Given the description of an element on the screen output the (x, y) to click on. 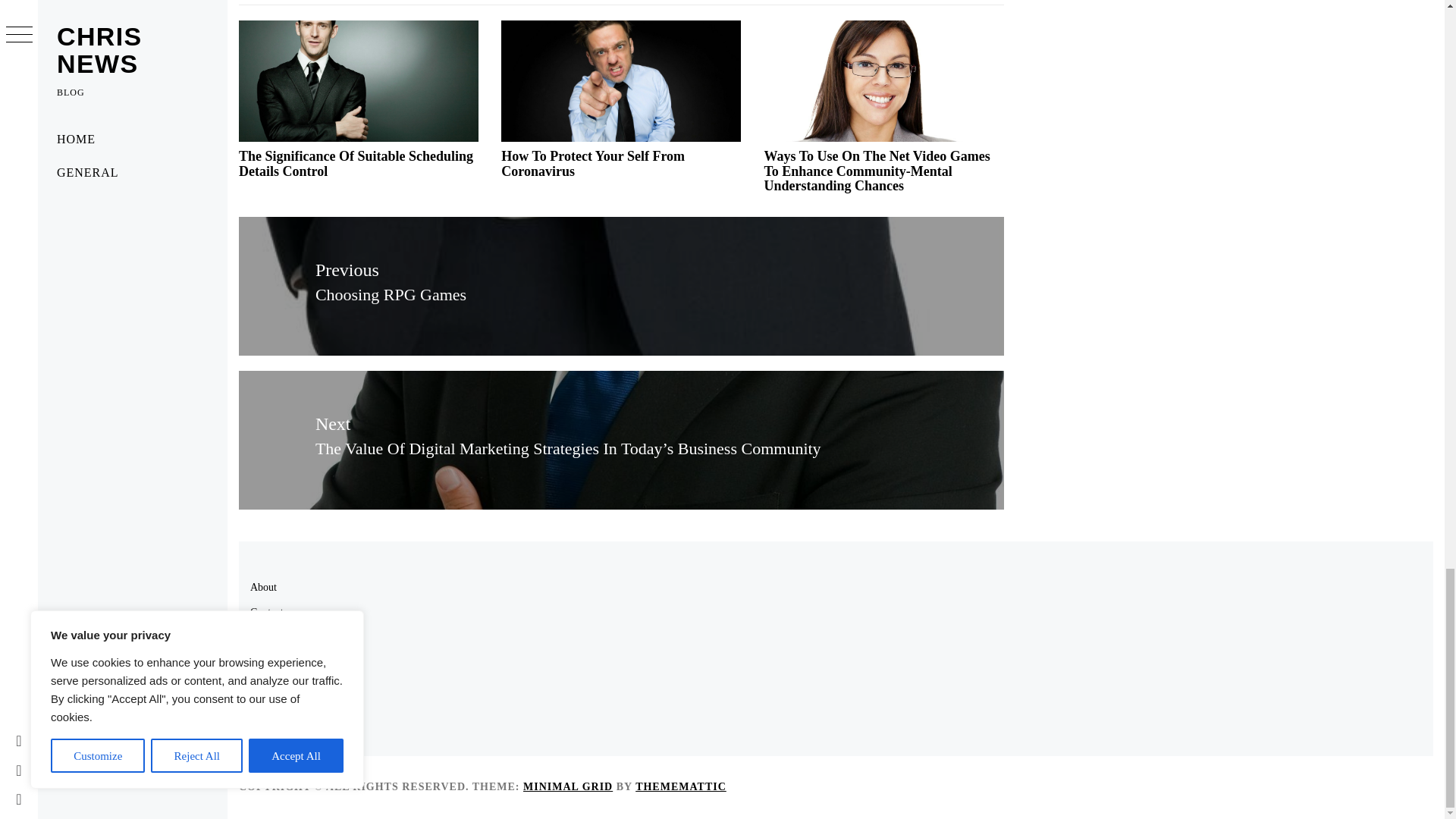
The Significance Of Suitable Scheduling Details Control (355, 163)
How To Protect Your Self From Coronavirus (592, 163)
